Given the description of an element on the screen output the (x, y) to click on. 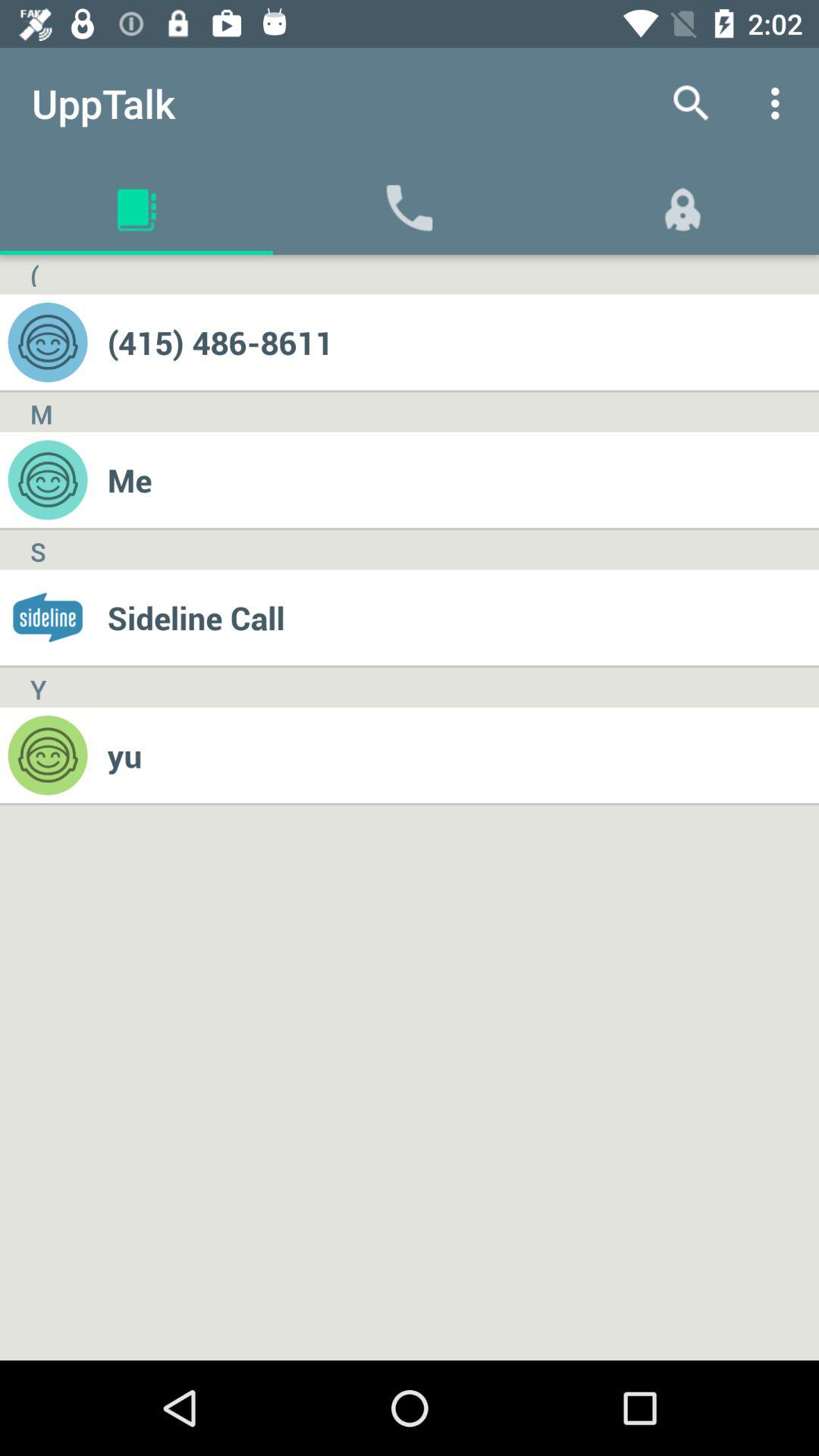
press the sideline call icon (463, 617)
